Given the description of an element on the screen output the (x, y) to click on. 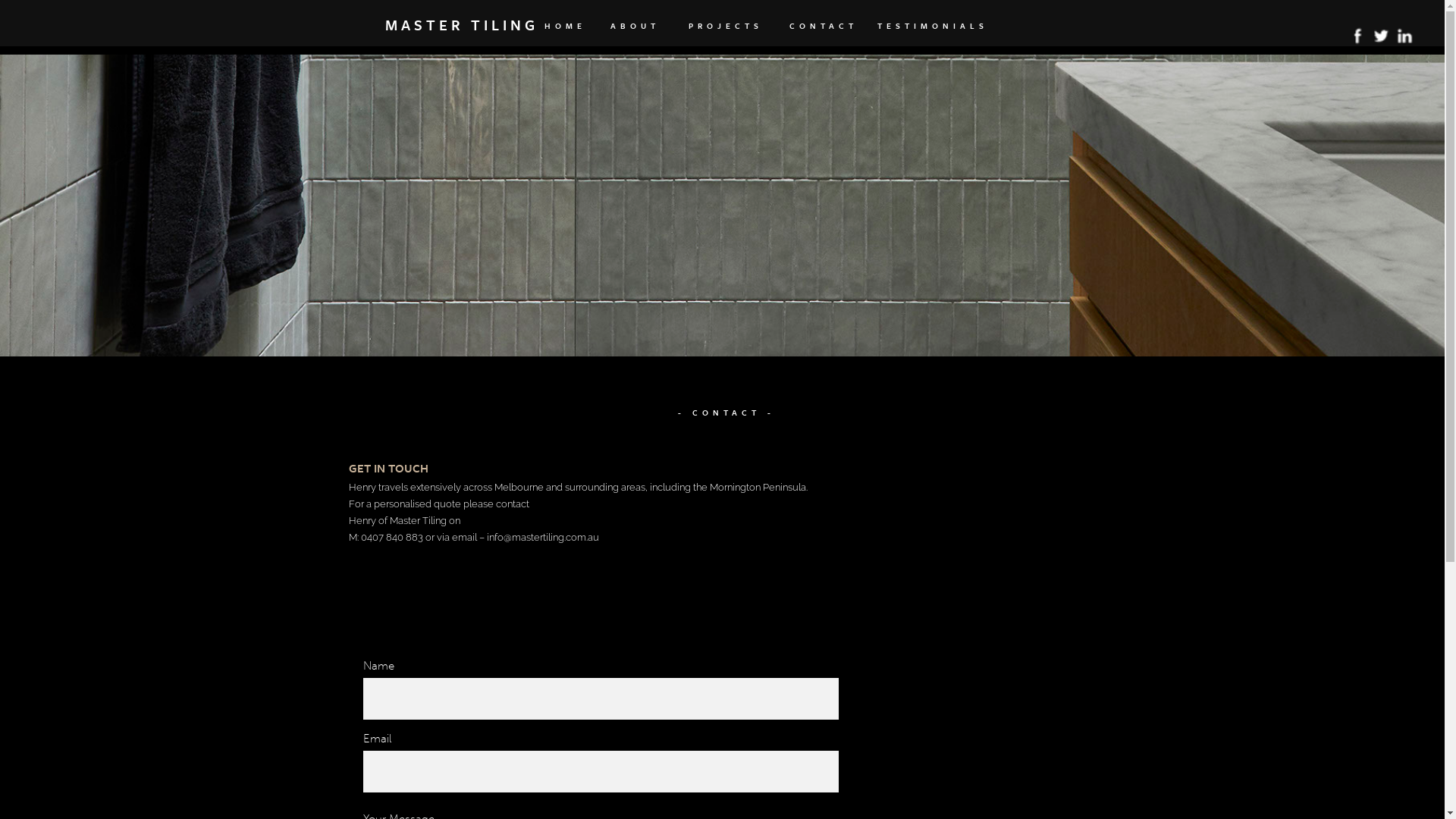
CONTACT Element type: text (822, 29)
MASTER TILING Element type: text (490, 24)
HOME Element type: text (565, 29)
TESTIMONIALS Element type: text (932, 29)
PROJECTS Element type: text (725, 29)
ABOUT Element type: text (635, 29)
